Given the description of an element on the screen output the (x, y) to click on. 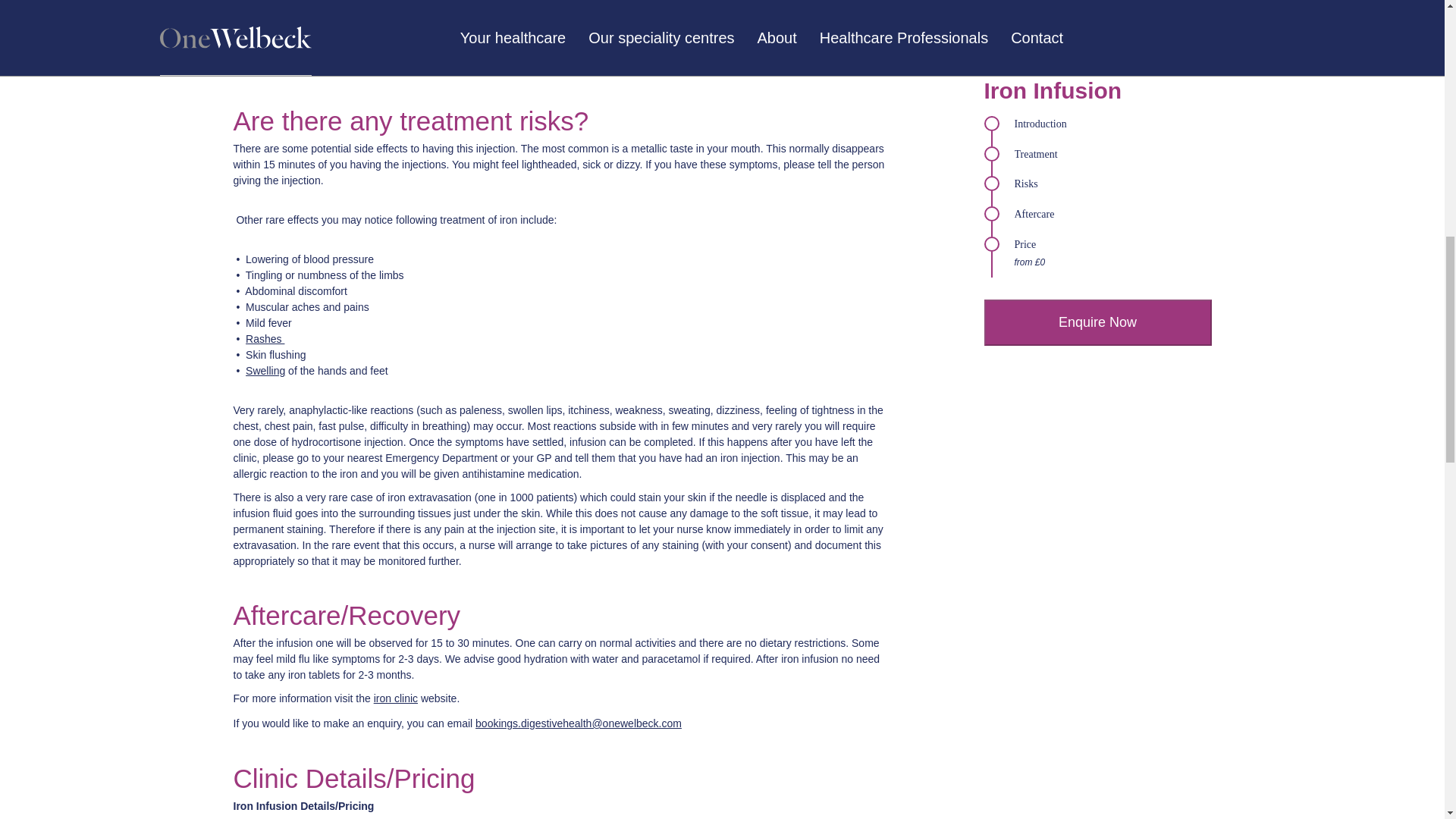
Enquire Now (1097, 75)
Price (1097, 14)
Swelling (265, 370)
Swelling (265, 370)
Body skin problems and rashes (264, 338)
iron clinic (395, 698)
Rashes  (264, 338)
